Given the description of an element on the screen output the (x, y) to click on. 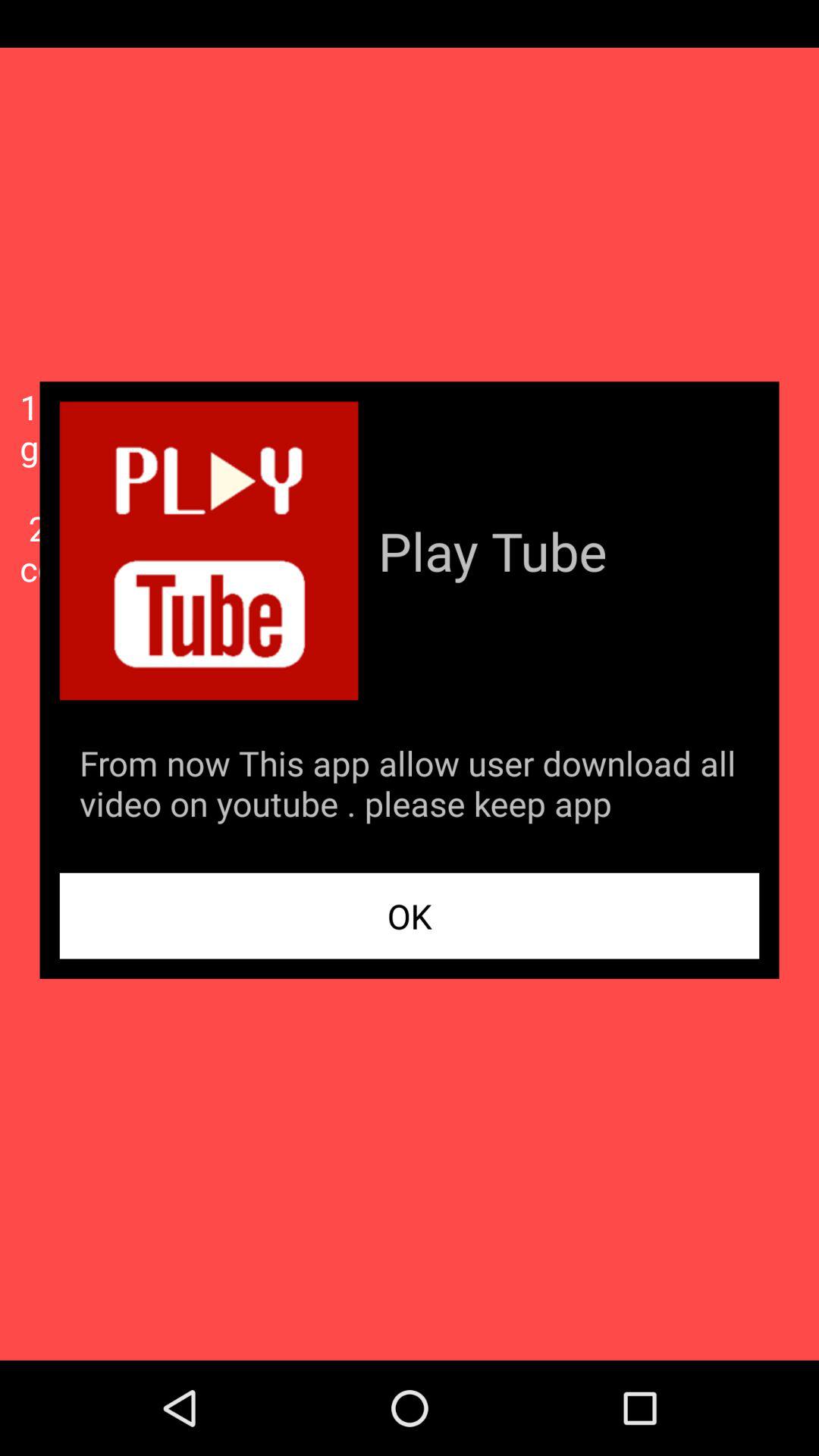
click from now this (409, 786)
